Given the description of an element on the screen output the (x, y) to click on. 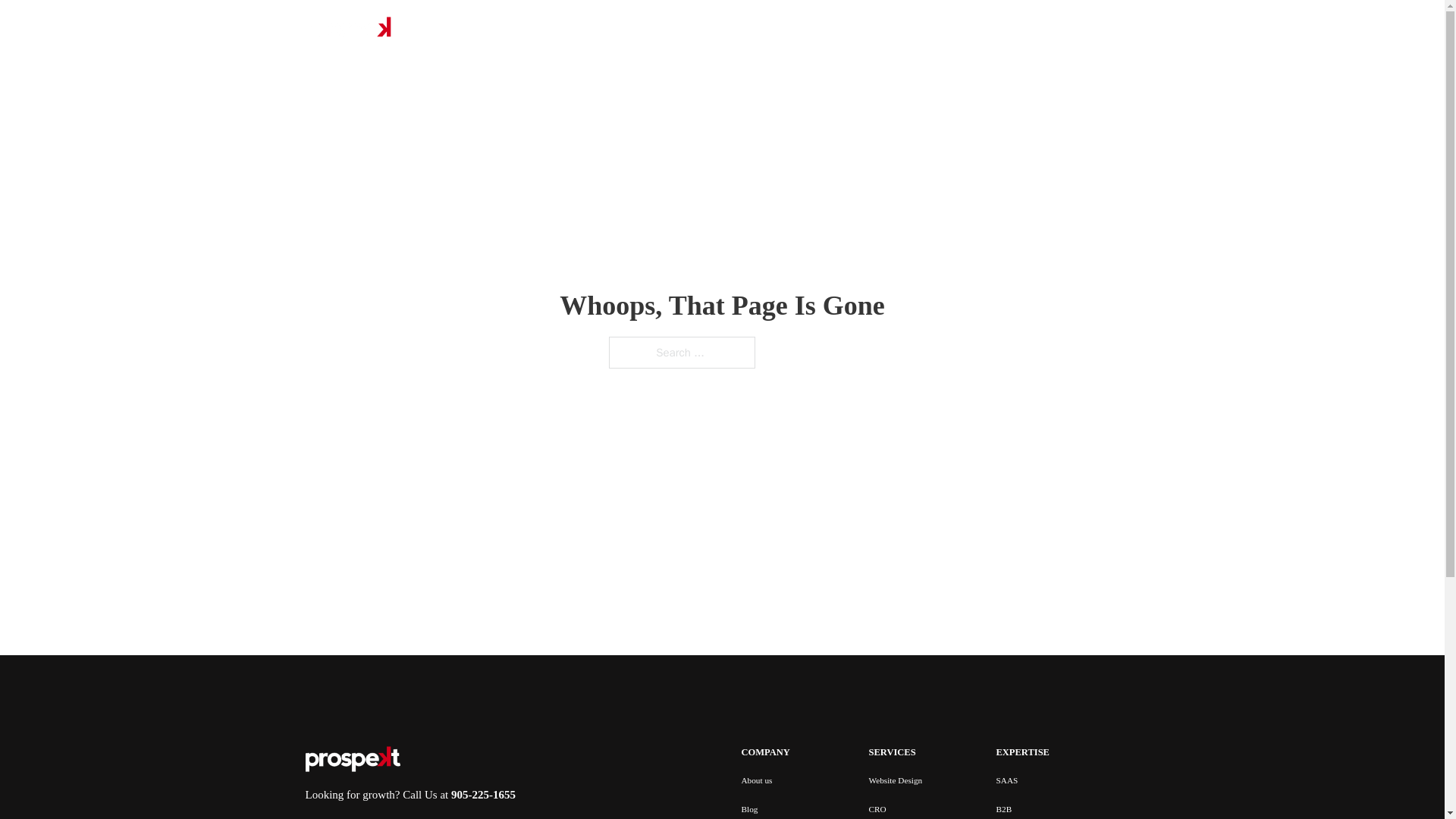
Blog (744, 30)
Home (564, 30)
Work (685, 30)
Solutions (616, 30)
Reviews (792, 30)
